Given the description of an element on the screen output the (x, y) to click on. 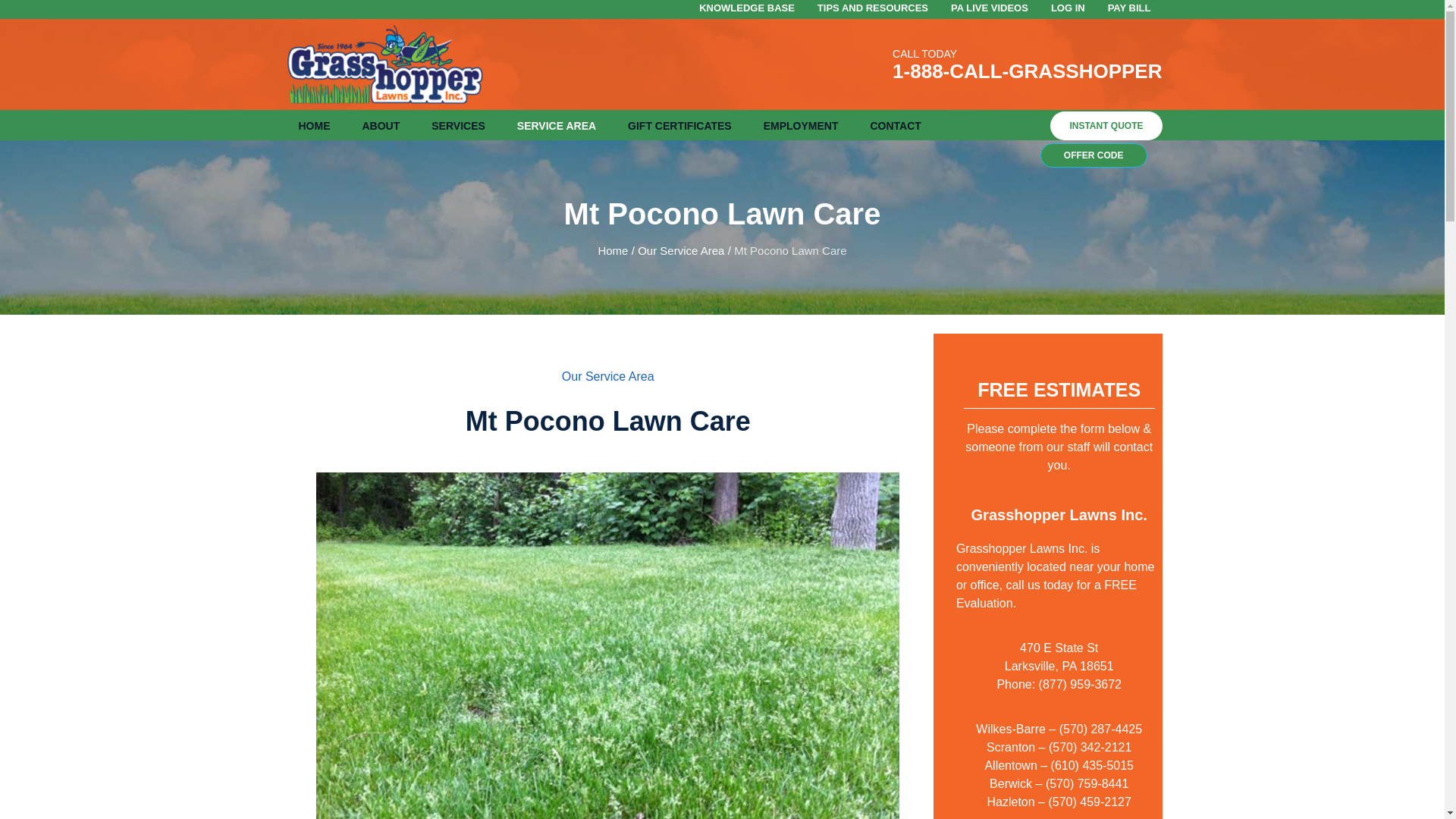
1-888-CALL-GRASSHOPPER (1026, 70)
KNOWLEDGE BASE (746, 7)
LOG IN (1068, 7)
PA LIVE VIDEOS (989, 7)
HOME (314, 124)
PAY BILL (1129, 7)
SERVICES (457, 124)
ABOUT (380, 124)
SERVICE AREA (555, 124)
TIPS AND RESOURCES (872, 7)
Mt Pocono Lawn Care (607, 688)
